Given the description of an element on the screen output the (x, y) to click on. 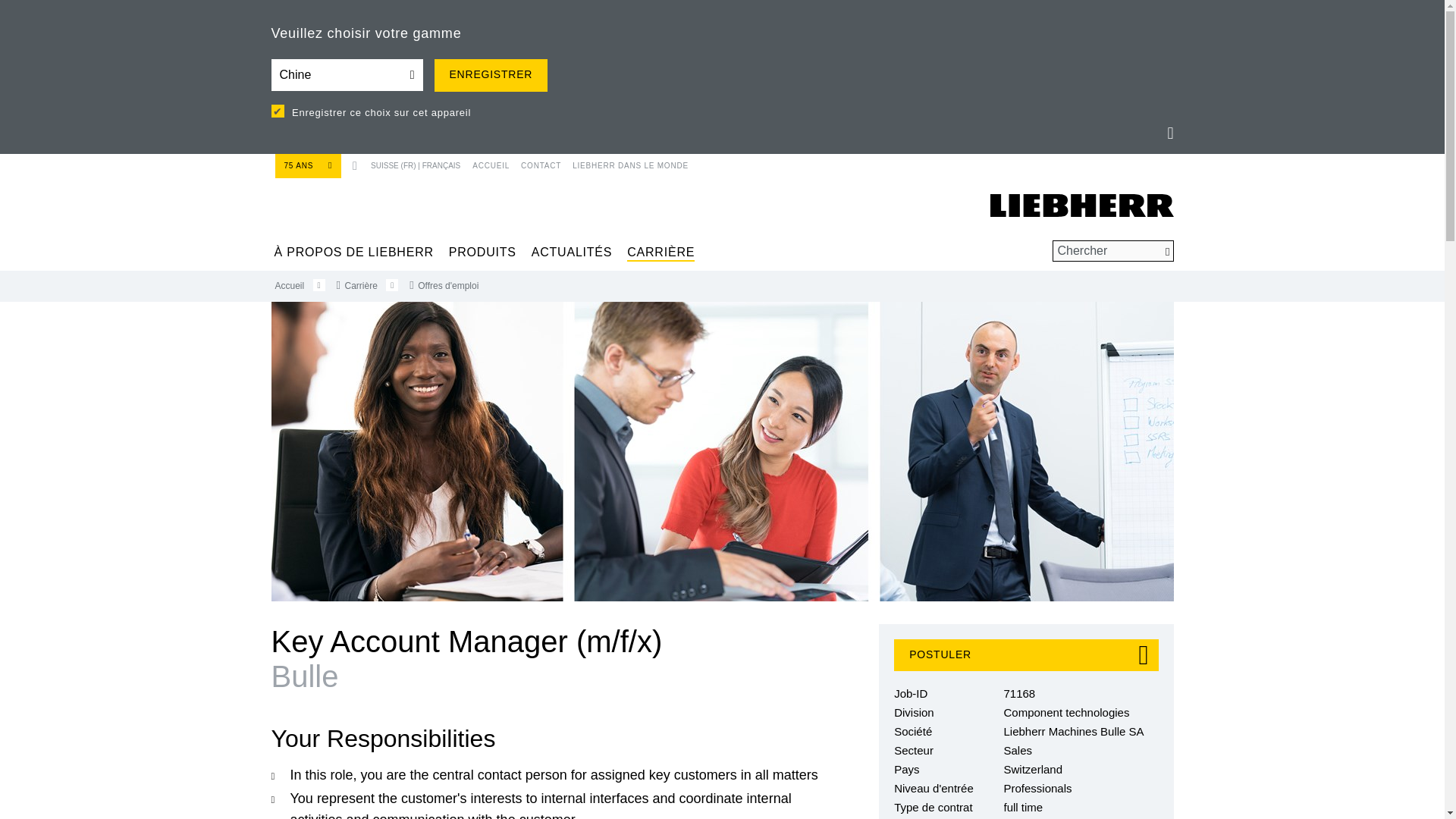
LIEBHERR DANS LE MONDE (624, 162)
ENREGISTRER (490, 74)
75 ANS (307, 165)
on (276, 110)
ACCUEIL (488, 162)
CONTACT (534, 162)
Chine (346, 74)
